Given the description of an element on the screen output the (x, y) to click on. 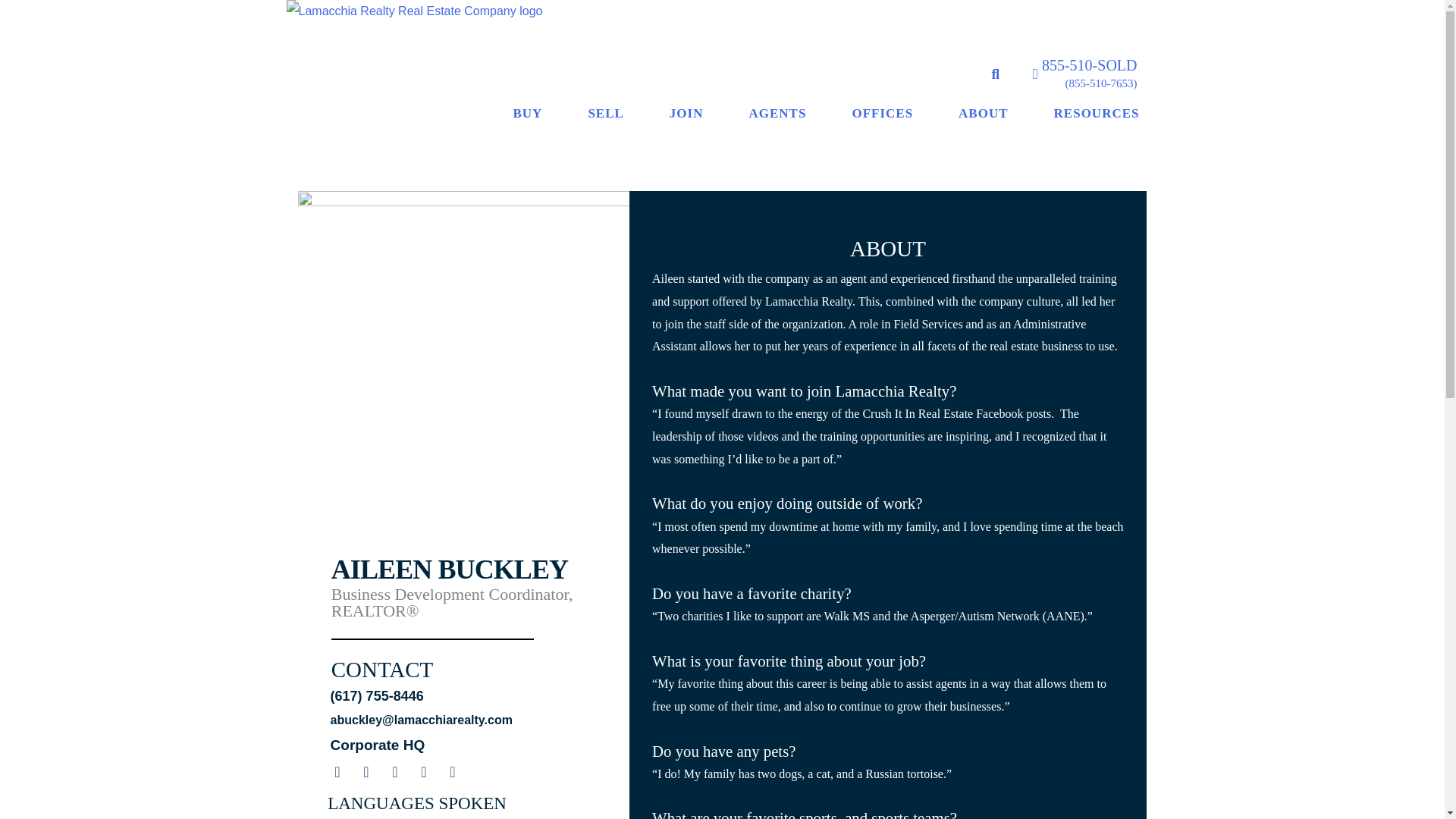
Facebook (337, 771)
OFFICES (881, 112)
AGENTS (777, 112)
Linkedin (423, 771)
BUY (527, 112)
Twitter (366, 771)
SELL (605, 112)
JOIN (686, 112)
Instagram (395, 771)
ABOUT (983, 112)
